Given the description of an element on the screen output the (x, y) to click on. 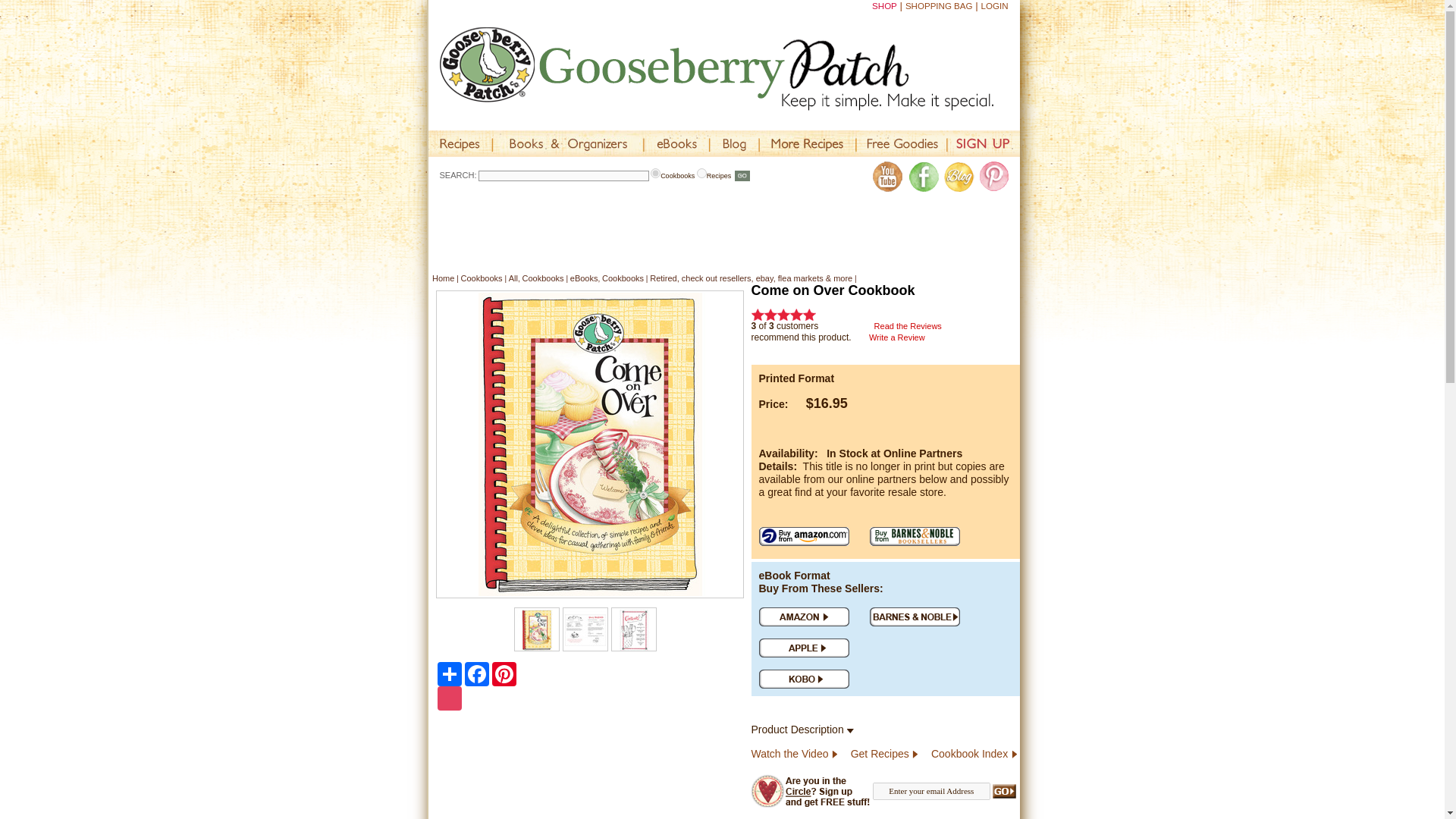
SHOPPING BAG (938, 5)
Gooseberry Patch - Keep it simple. Make it special. (729, 69)
Recipes (460, 142)
LOGIN (995, 5)
Cookbooks (655, 173)
Recipes (701, 173)
Enter your email Address (931, 791)
Gooseberry Patch - Keep it simple. Make it special. (716, 69)
SHOP (884, 5)
